Given the description of an element on the screen output the (x, y) to click on. 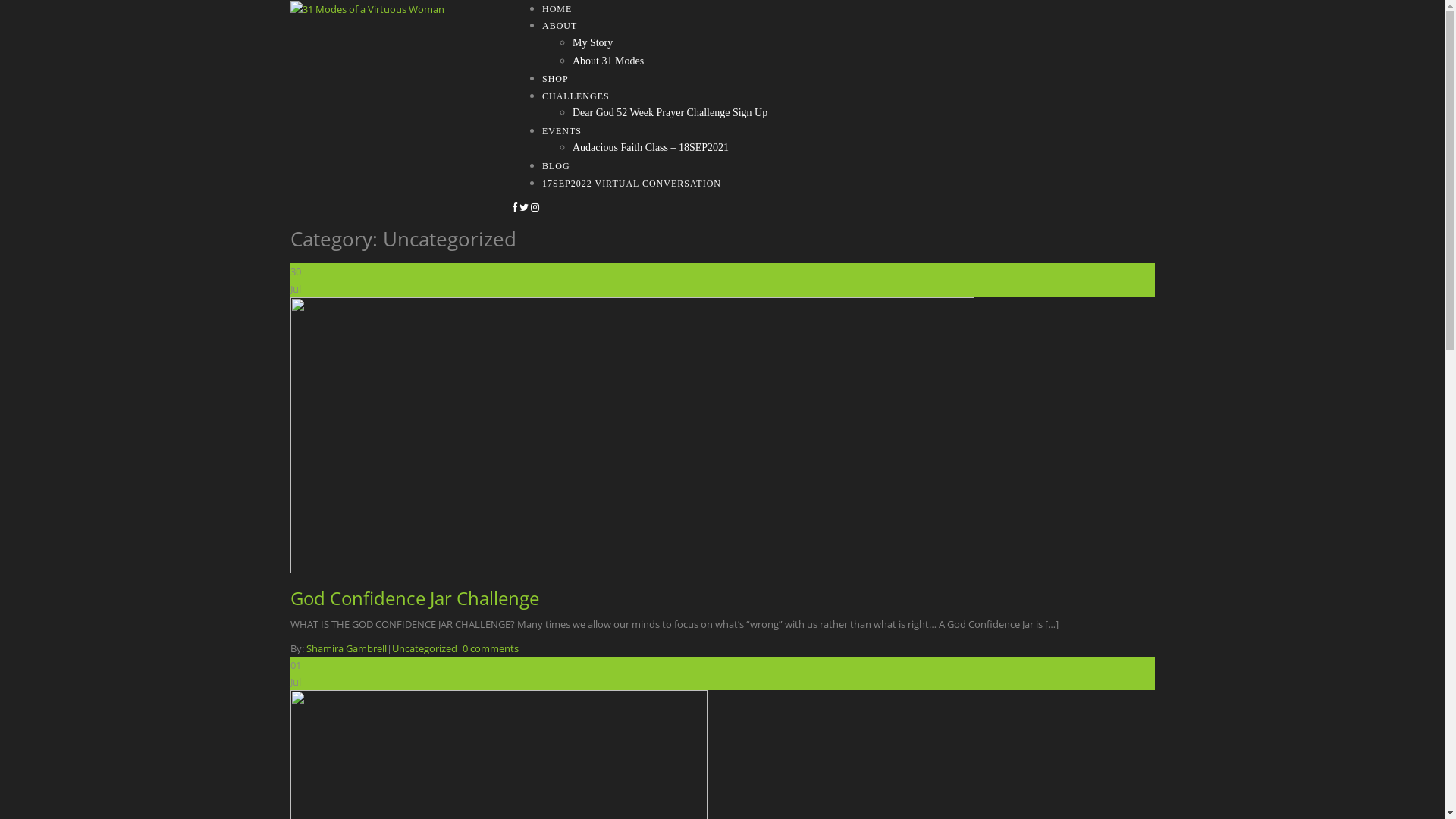
HOME Element type: text (556, 8)
BLOG Element type: text (556, 165)
God Confidence Jar Challenge Element type: text (413, 597)
EVENTS Element type: text (561, 130)
My Story Element type: text (592, 42)
ABOUT Element type: text (559, 25)
Dear God 52 Week Prayer Challenge Sign Up Element type: text (669, 112)
17SEP2022 VIRTUAL CONVERSATION Element type: text (631, 183)
About 31 Modes Element type: text (607, 60)
SHOP Element type: text (555, 78)
0 comments Element type: text (490, 648)
Shamira Gambrell Element type: text (346, 648)
CHALLENGES Element type: text (575, 96)
Uncategorized Element type: text (423, 648)
